Given the description of an element on the screen output the (x, y) to click on. 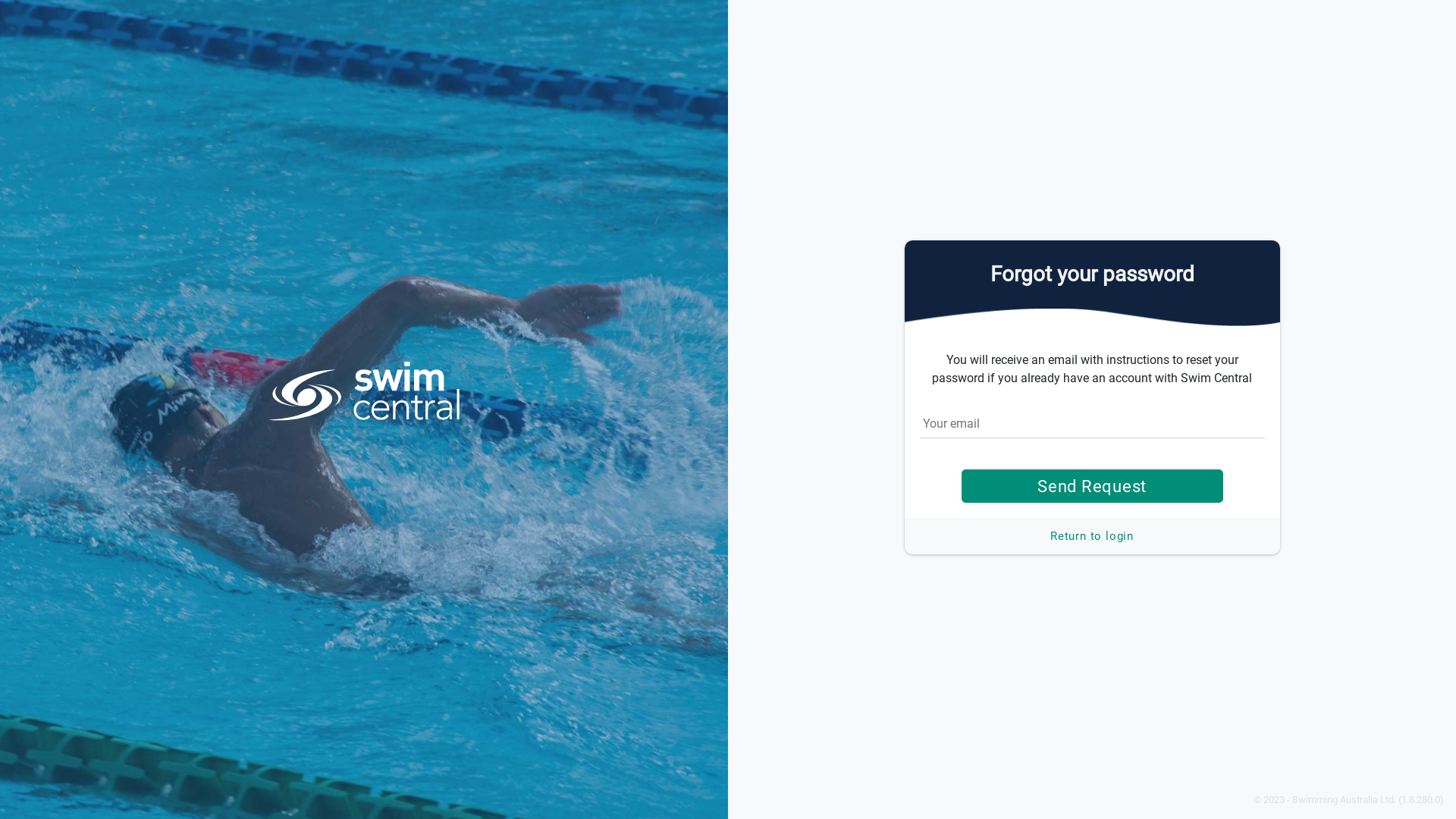
Return to login Element type: text (1091, 535)
Send Request Element type: text (1092, 485)
